Given the description of an element on the screen output the (x, y) to click on. 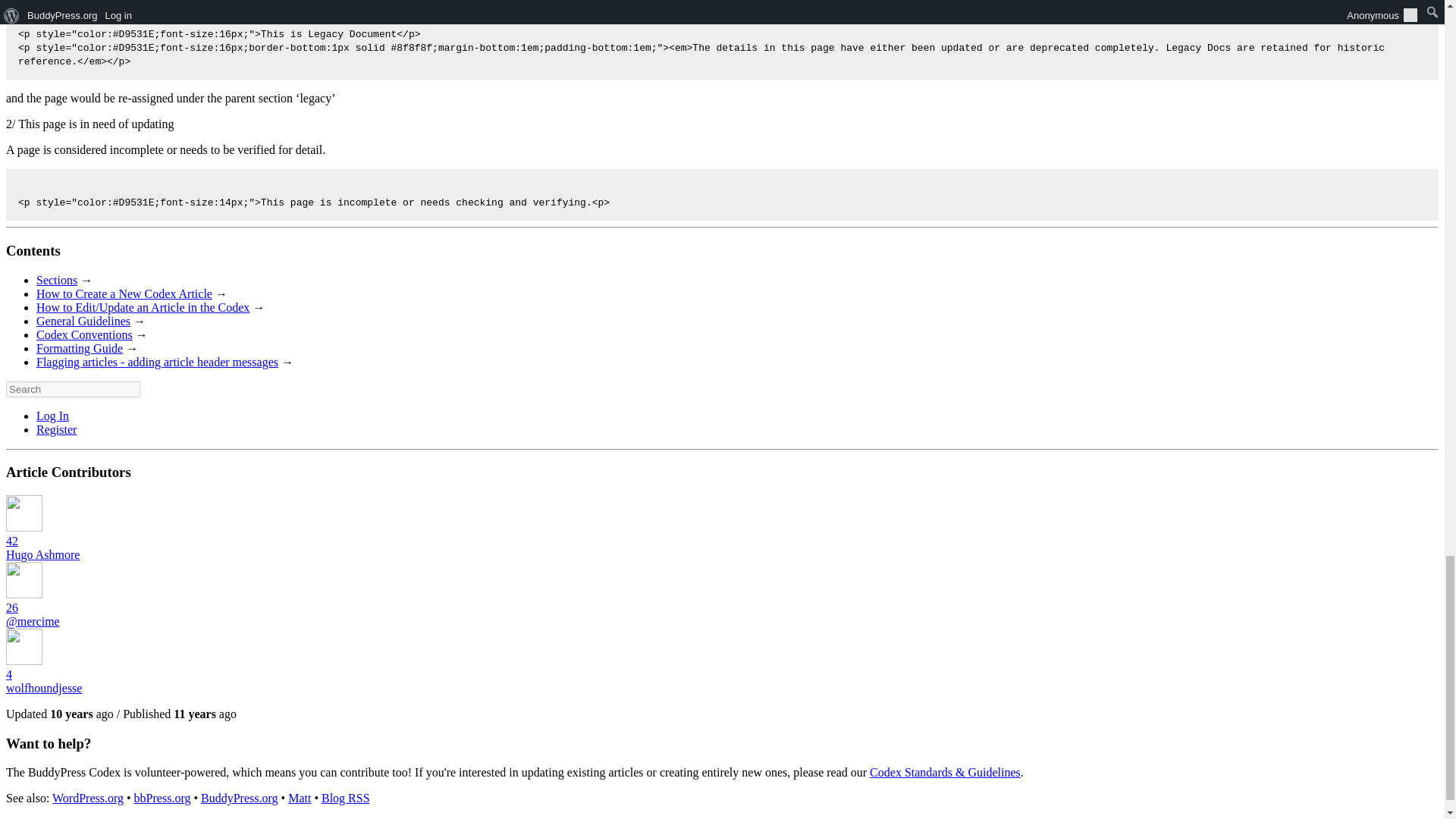
Sections (56, 279)
How to Create a New Codex Article (124, 293)
General Guidelines (83, 320)
